Given the description of an element on the screen output the (x, y) to click on. 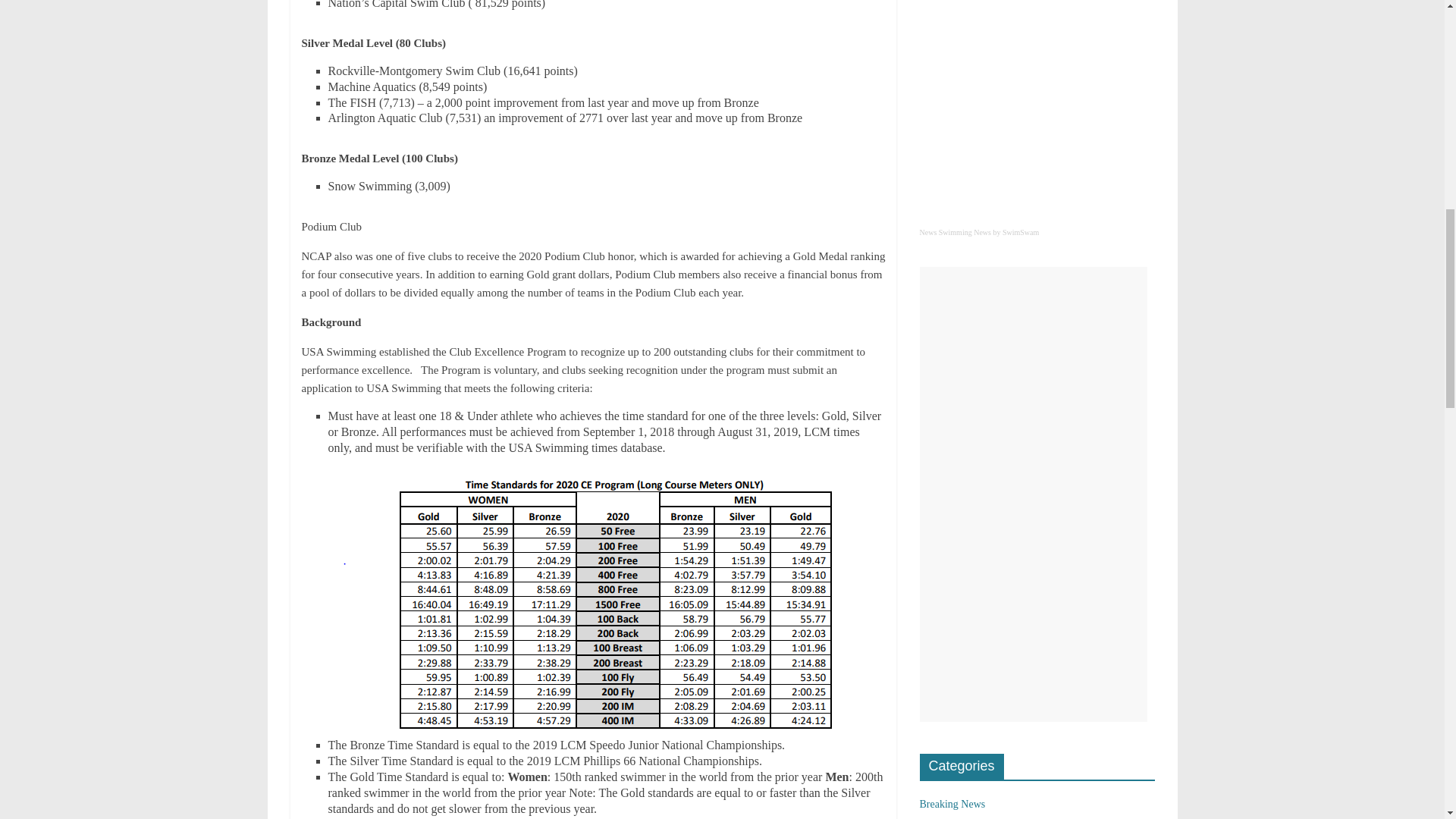
Breaking News (951, 803)
News Swimming News by SwimSwam (1036, 240)
